Given the description of an element on the screen output the (x, y) to click on. 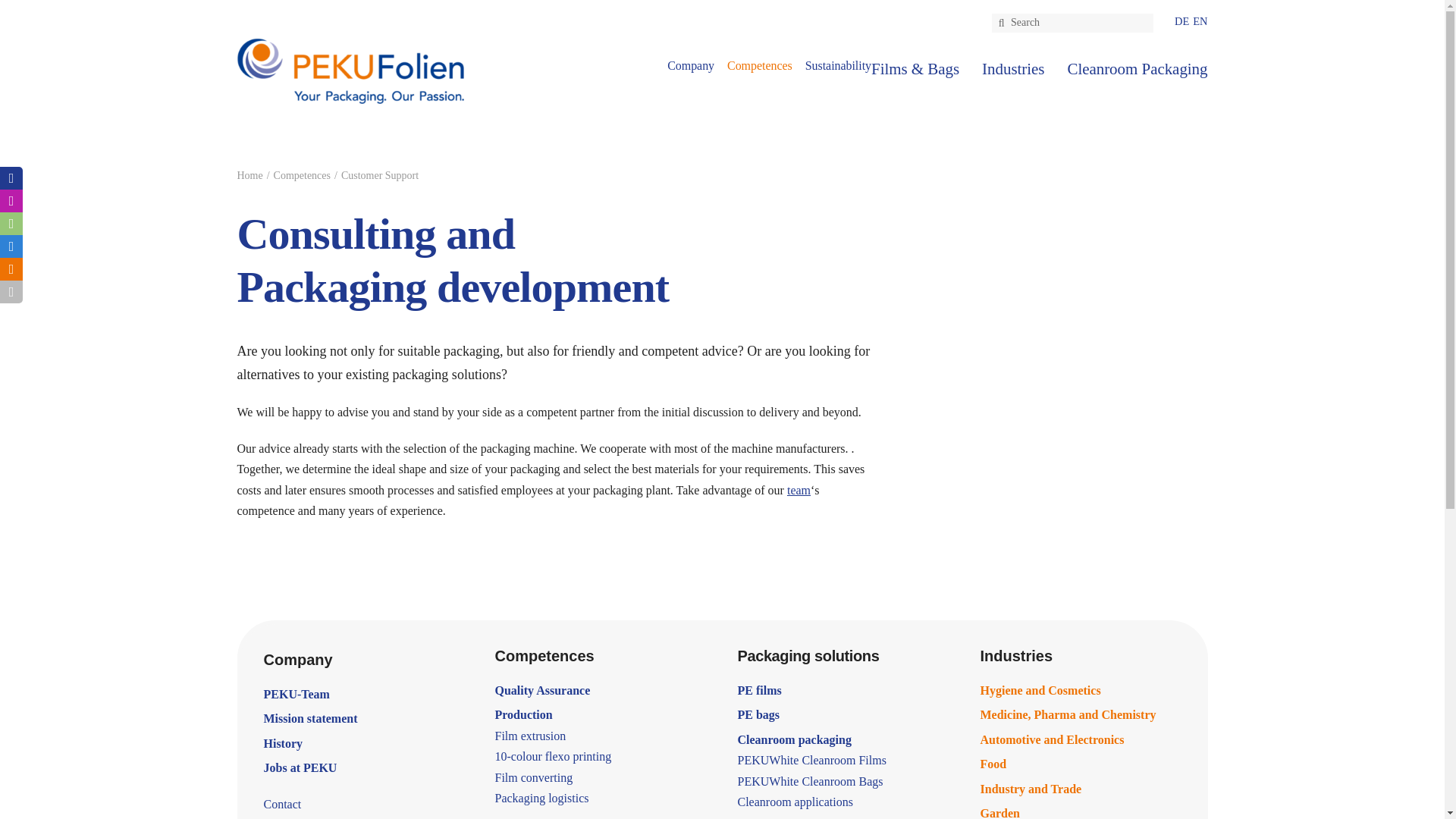
Sustainability (837, 67)
Company (759, 67)
